Given the description of an element on the screen output the (x, y) to click on. 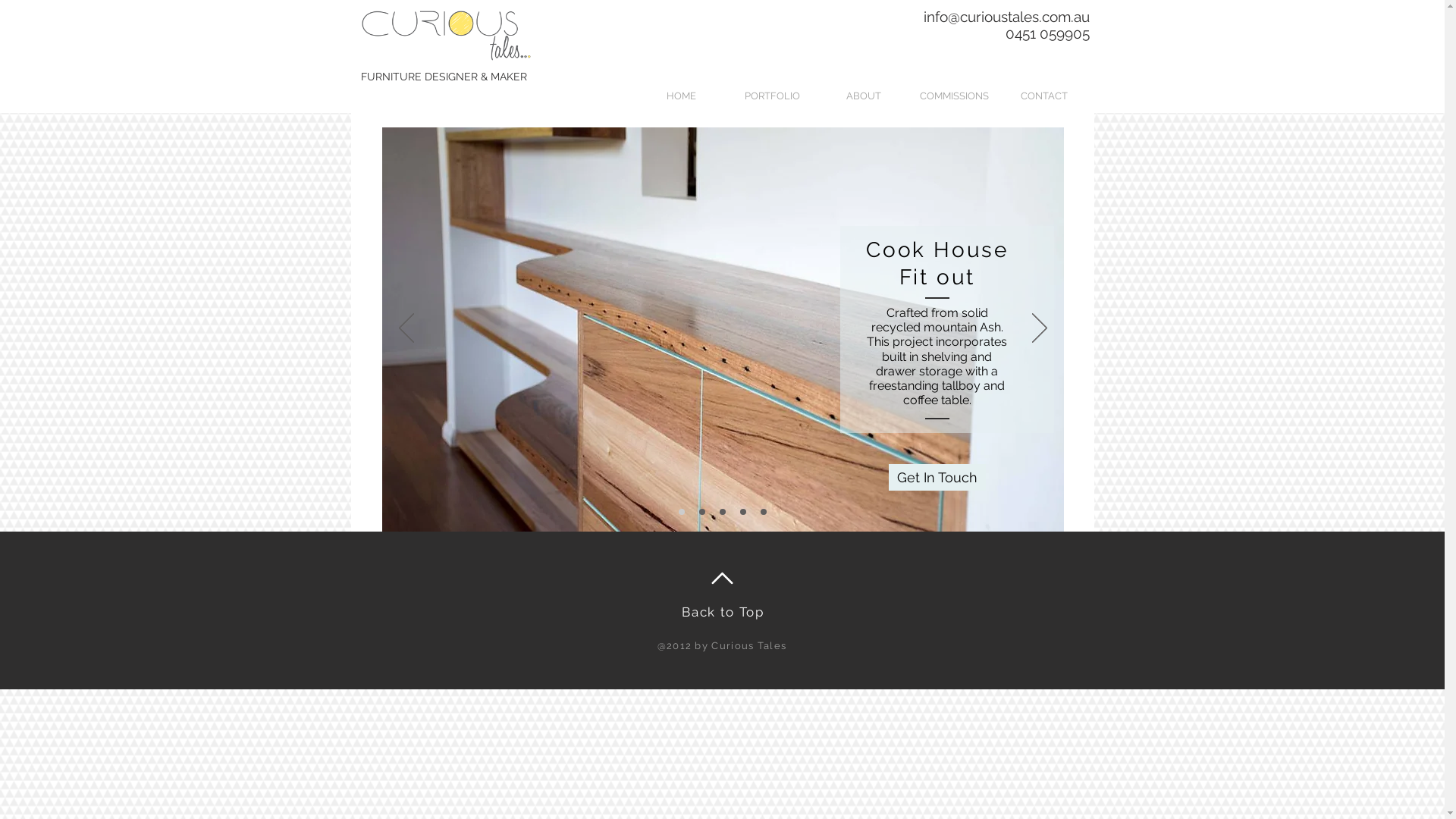
info@curioustales.com.au Element type: text (1006, 16)
CONTACT Element type: text (1043, 95)
PORTFOLIO Element type: text (772, 95)
Get In Touch Element type: text (936, 477)
COMMISSIONS Element type: text (954, 95)
Back to Top Element type: text (722, 611)
ABOUT Element type: text (863, 95)
HOME Element type: text (681, 95)
